Given the description of an element on the screen output the (x, y) to click on. 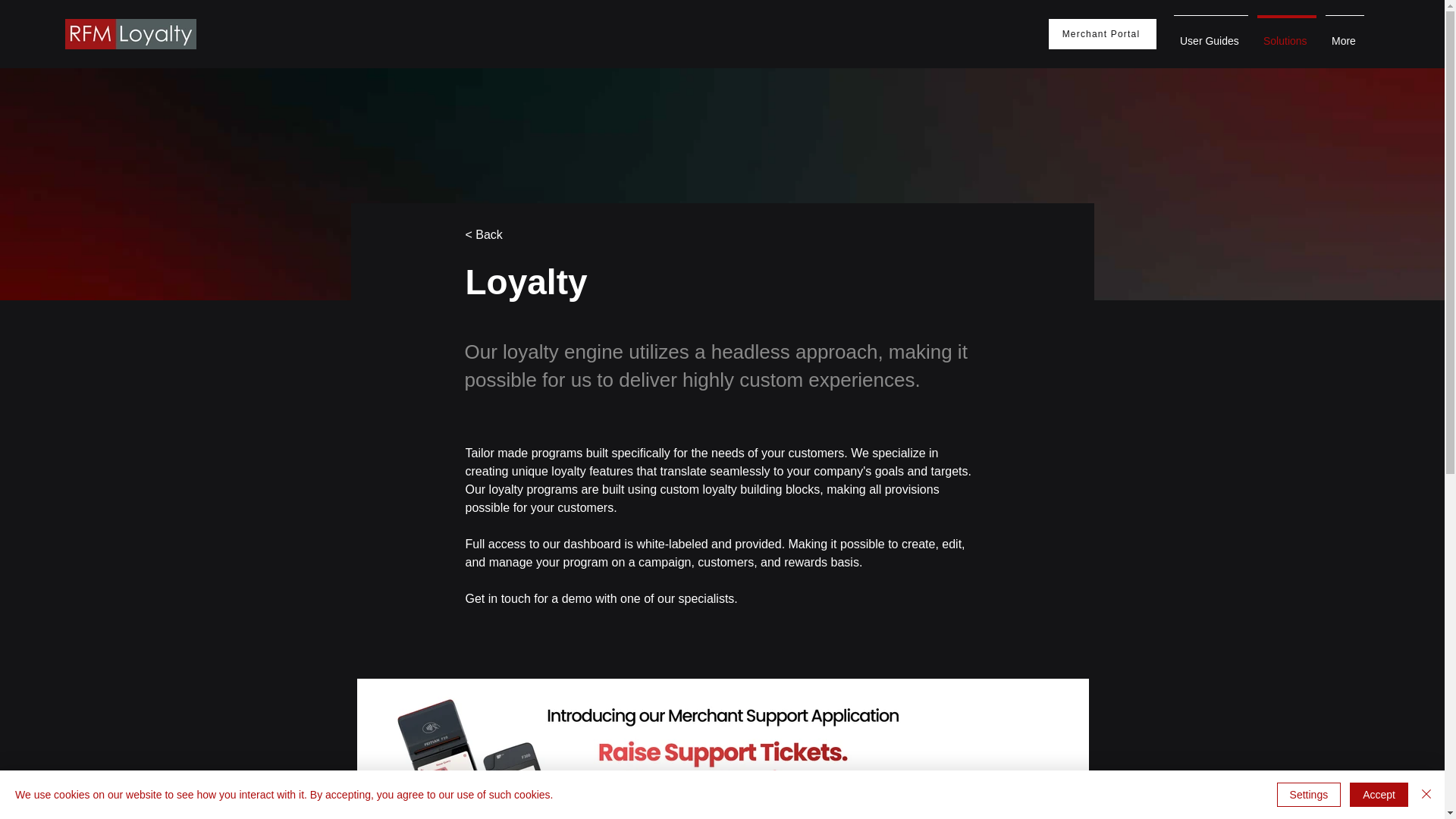
Solutions (1286, 34)
Settings (1308, 794)
Accept (1378, 794)
User Guides (1210, 34)
Merchant Portal (1102, 33)
